Given the description of an element on the screen output the (x, y) to click on. 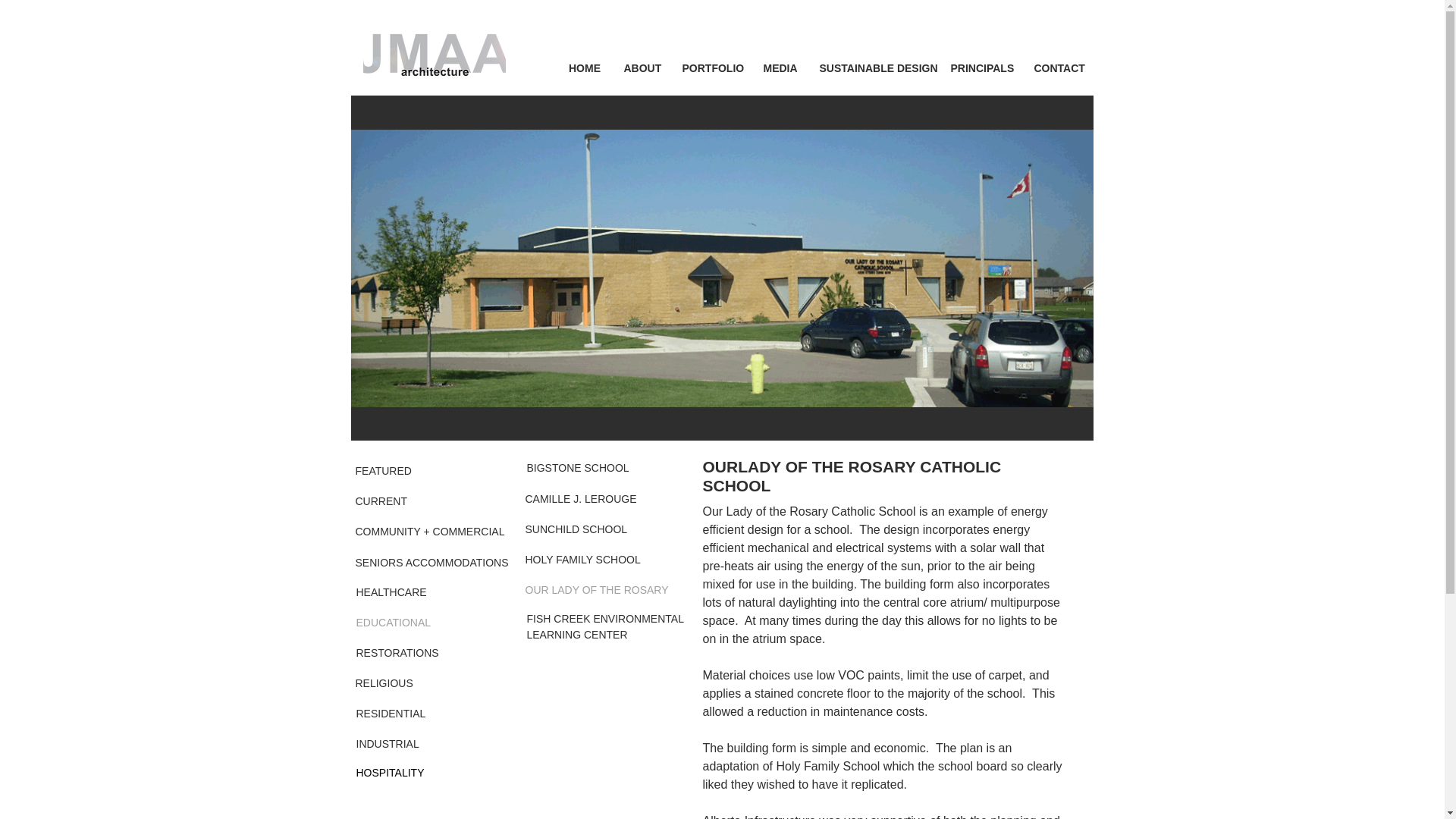
CONTACT (1057, 67)
RESTORATIONS (410, 653)
MEDIA (780, 67)
ABOUT (641, 67)
OUR LADY OF THE ROSARY (596, 590)
FEATURED (409, 471)
HEALTHCARE (410, 593)
RESIDENTIAL (410, 714)
HOLY FAMILY SCHOOL (582, 560)
BIGSTONE SCHOOL (576, 468)
